Given the description of an element on the screen output the (x, y) to click on. 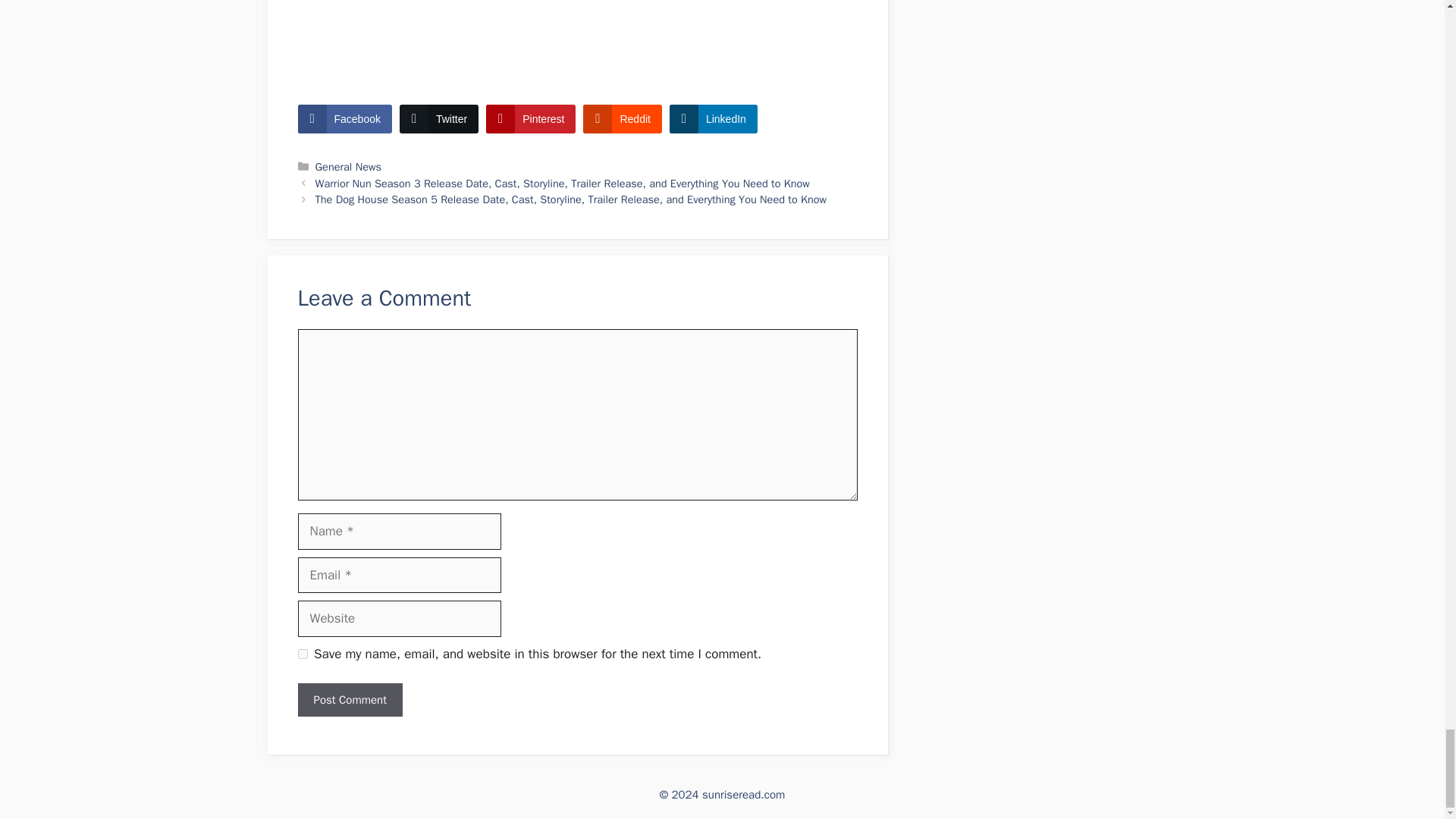
Reddit (622, 118)
General News (348, 166)
Post Comment (349, 700)
yes (302, 654)
Twitter (438, 118)
Pinterest (530, 118)
Post Comment (349, 700)
Facebook (344, 118)
LinkedIn (713, 118)
